Given the description of an element on the screen output the (x, y) to click on. 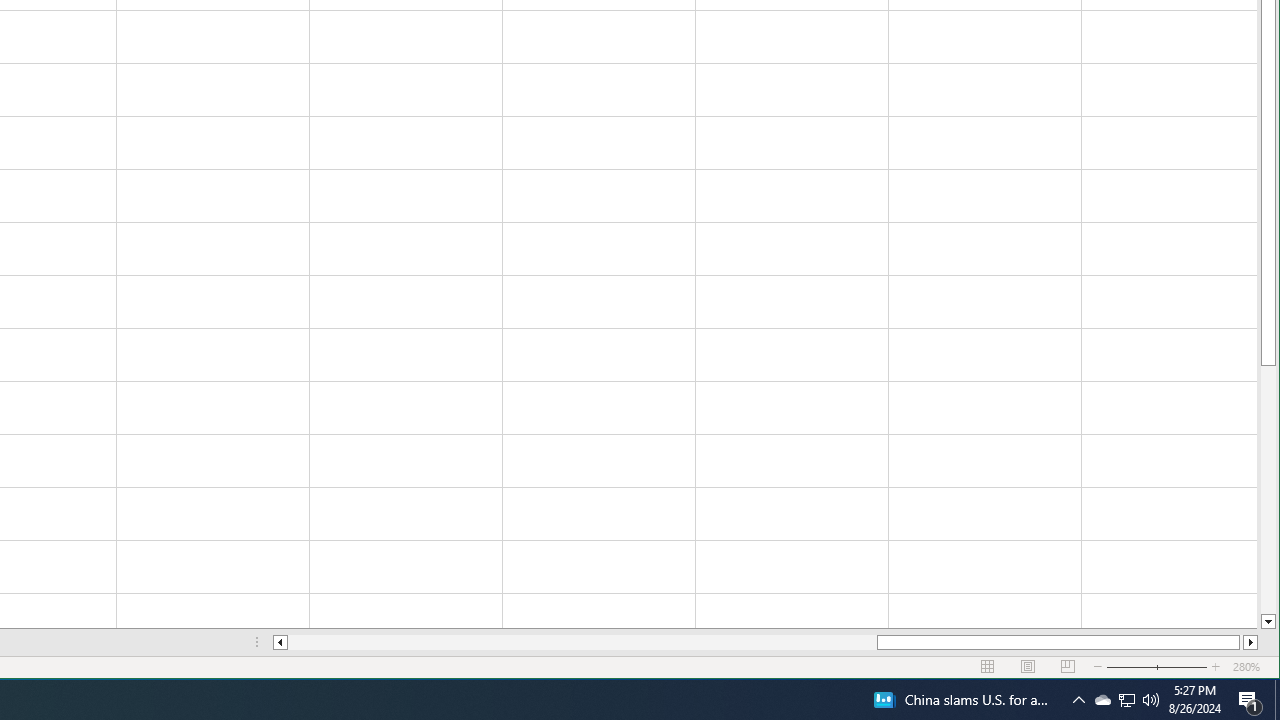
Show desktop (1277, 699)
Q2790: 100% (1151, 699)
